Given the description of an element on the screen output the (x, y) to click on. 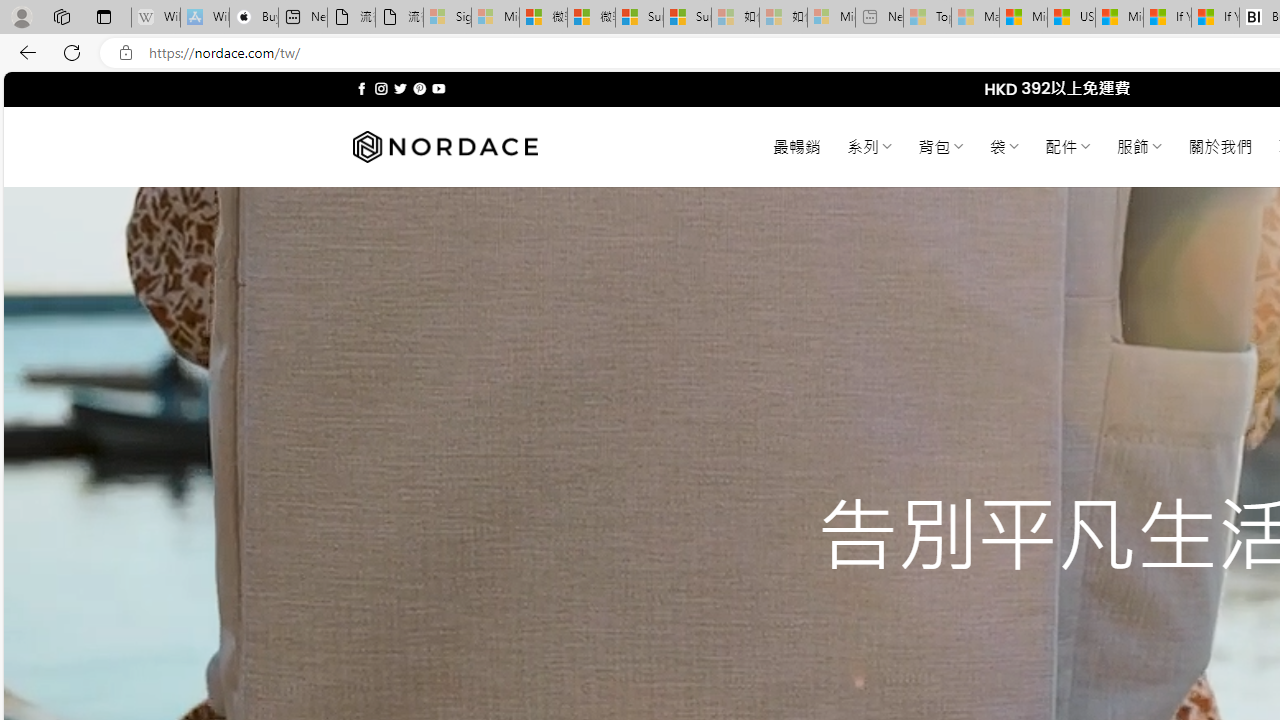
Follow on Instagram (381, 88)
